Given the description of an element on the screen output the (x, y) to click on. 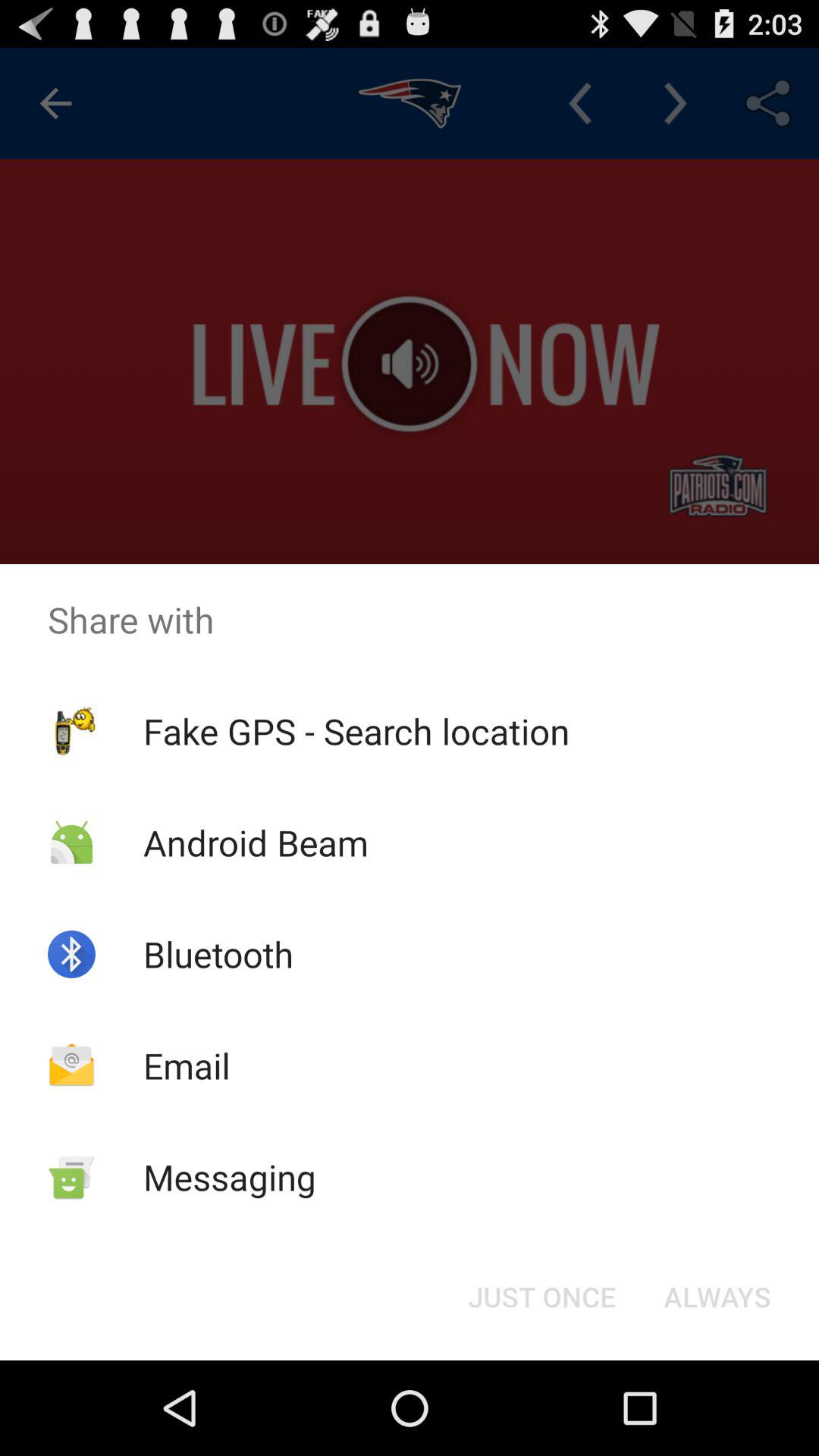
open the fake gps search item (356, 730)
